Given the description of an element on the screen output the (x, y) to click on. 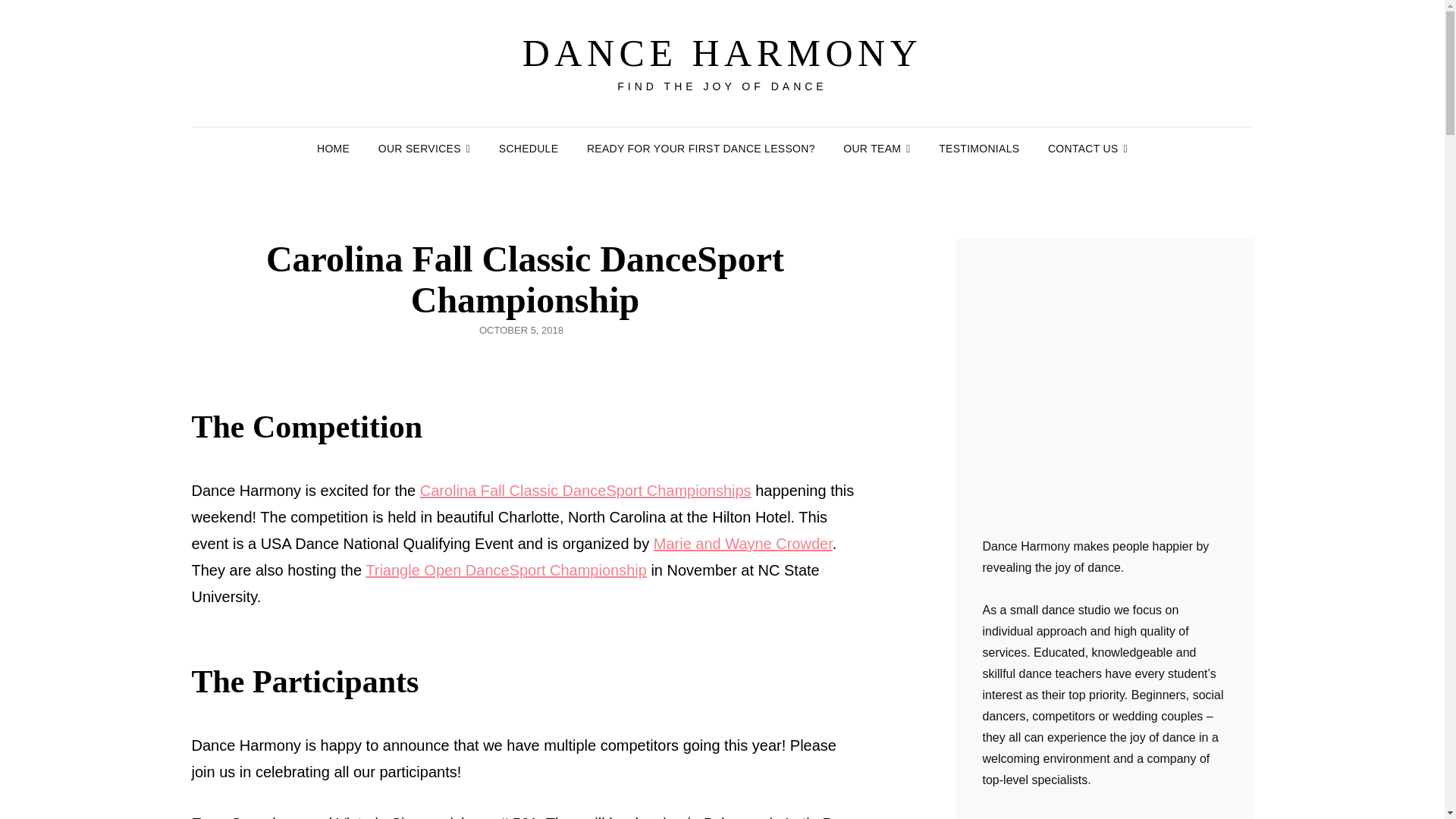
READY FOR YOUR FIRST DANCE LESSON? (701, 148)
Marie and Wayne Crowder (742, 543)
TESTIMONIALS (978, 148)
OUR SERVICES (423, 148)
HOME (332, 148)
OUR TEAM (876, 148)
CONTACT US (1087, 148)
OCTOBER 5, 2018 (521, 329)
Carolina Fall Classic DanceSport Championships (585, 490)
SCHEDULE (528, 148)
DANCE HARMONY (722, 52)
Triangle Open DanceSport Championship (505, 569)
